Given the description of an element on the screen output the (x, y) to click on. 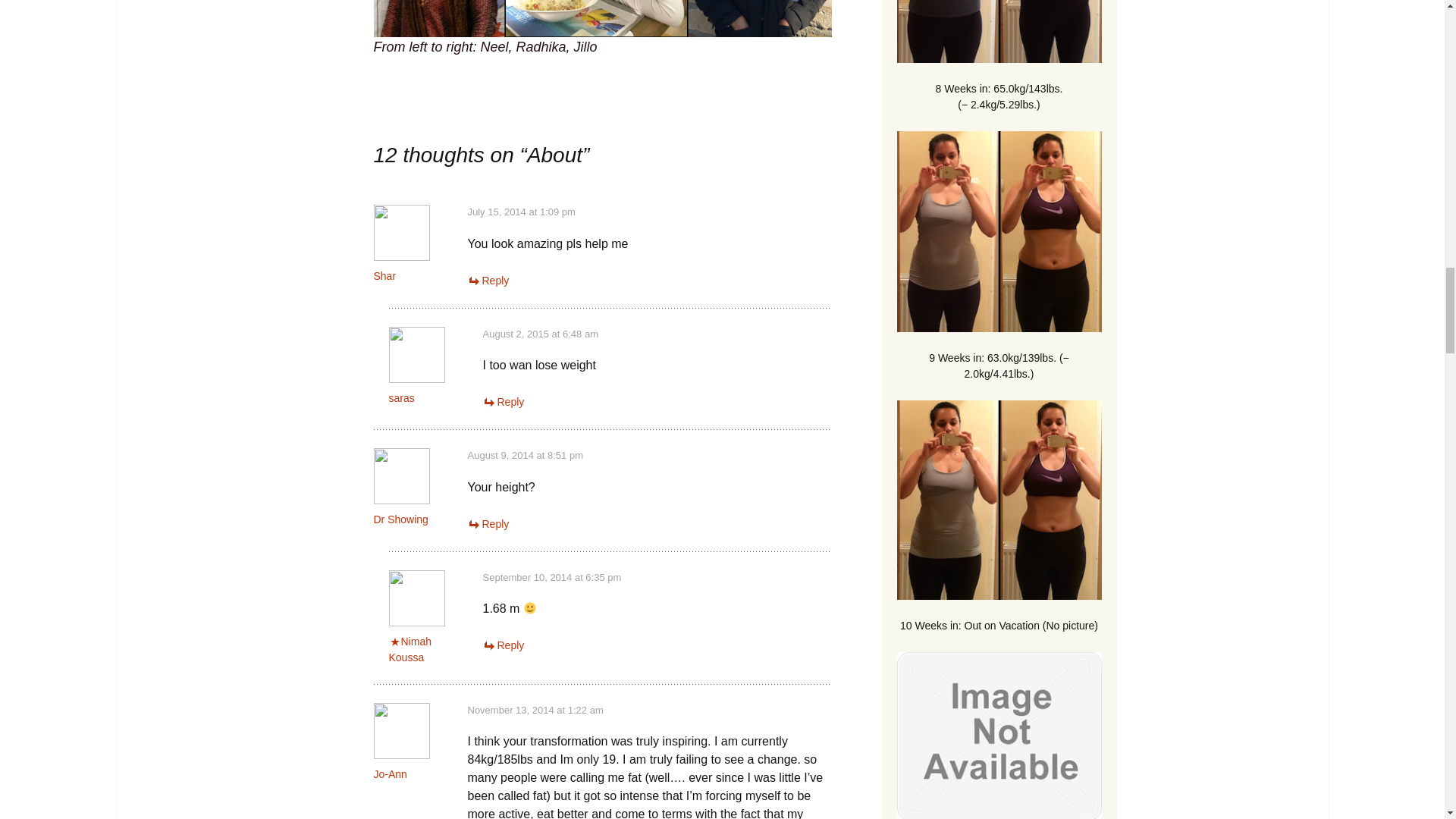
Reply (487, 523)
September 10, 2014 at 6:35 pm (551, 577)
August 9, 2014 at 8:51 pm (525, 455)
November 13, 2014 at 1:22 am (534, 709)
Reply (502, 401)
July 15, 2014 at 1:09 pm (521, 211)
August 2, 2015 at 6:48 am (539, 333)
Reply (487, 280)
Reply (502, 645)
